Given the description of an element on the screen output the (x, y) to click on. 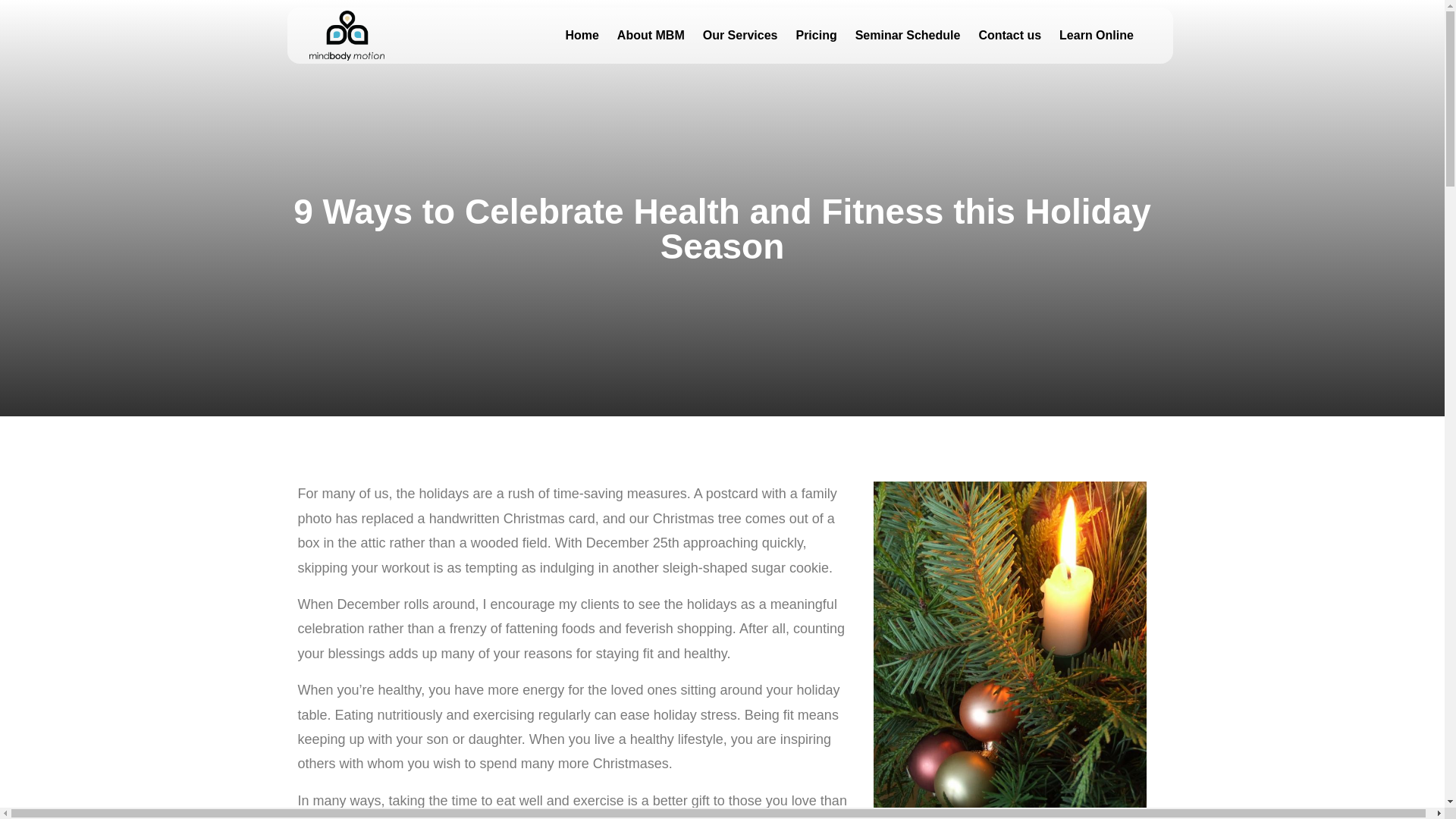
Pricing (815, 35)
Our Services (740, 35)
Home (581, 35)
About MBM (651, 35)
Learn Online (1095, 35)
Contact us (1009, 35)
9 Ways to Celebrate Health and Fitness this Holiday Season (722, 228)
Seminar Schedule (907, 35)
